Given the description of an element on the screen output the (x, y) to click on. 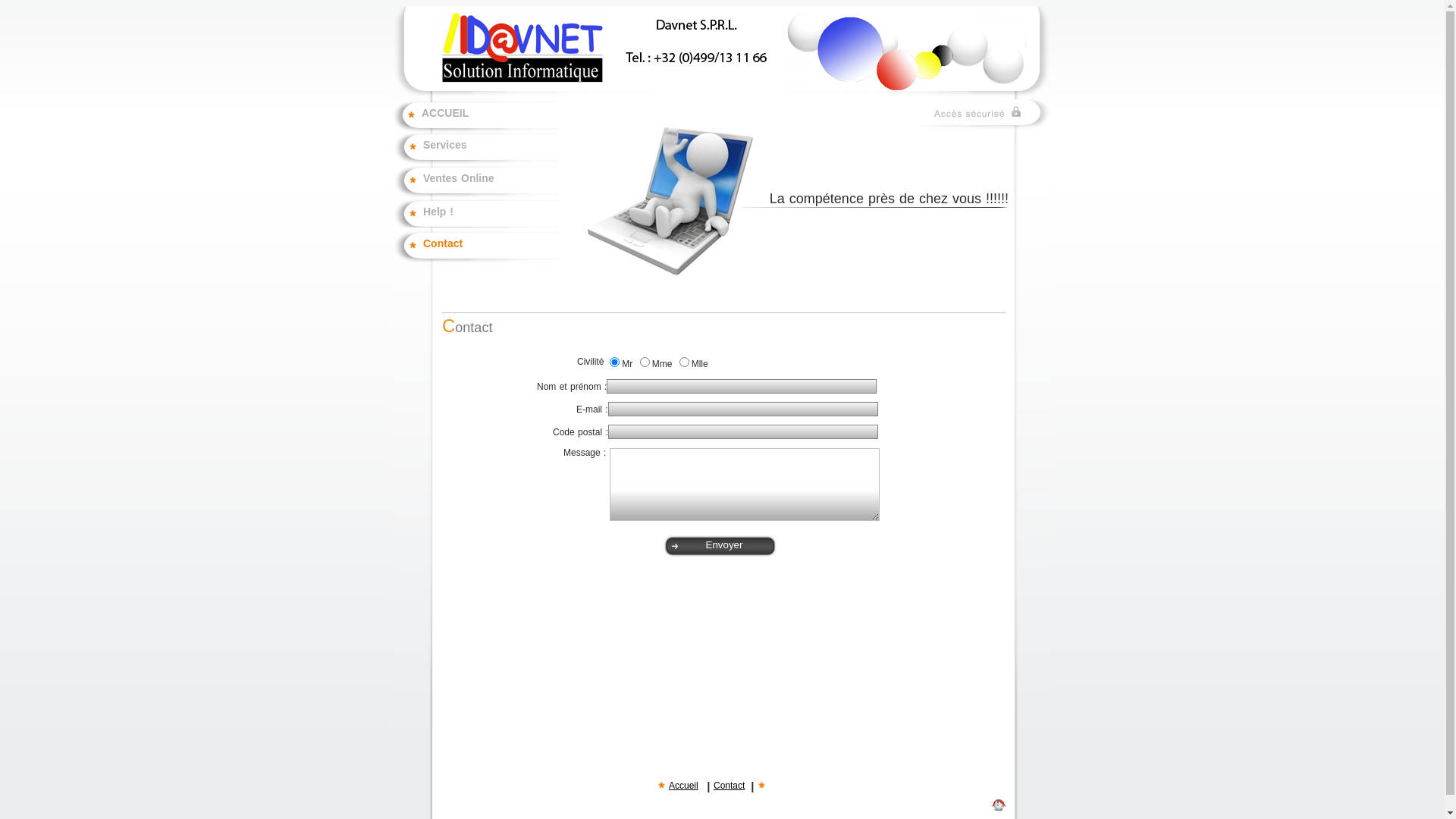
Contact Element type: text (729, 785)
Contact Element type: text (729, 786)
Services Element type: text (491, 152)
Contact Element type: text (475, 246)
Accueil Element type: text (683, 786)
Help ! Element type: text (475, 212)
Ventes Online Element type: text (491, 185)
Services Element type: text (475, 147)
Accueil Element type: text (683, 785)
ACCUEIL Element type: text (489, 120)
ACCUEIL Element type: text (474, 115)
Help ! Element type: text (491, 217)
Contact Element type: text (491, 250)
Envoyer Element type: text (724, 544)
Ventes Online Element type: text (475, 180)
